Given the description of an element on the screen output the (x, y) to click on. 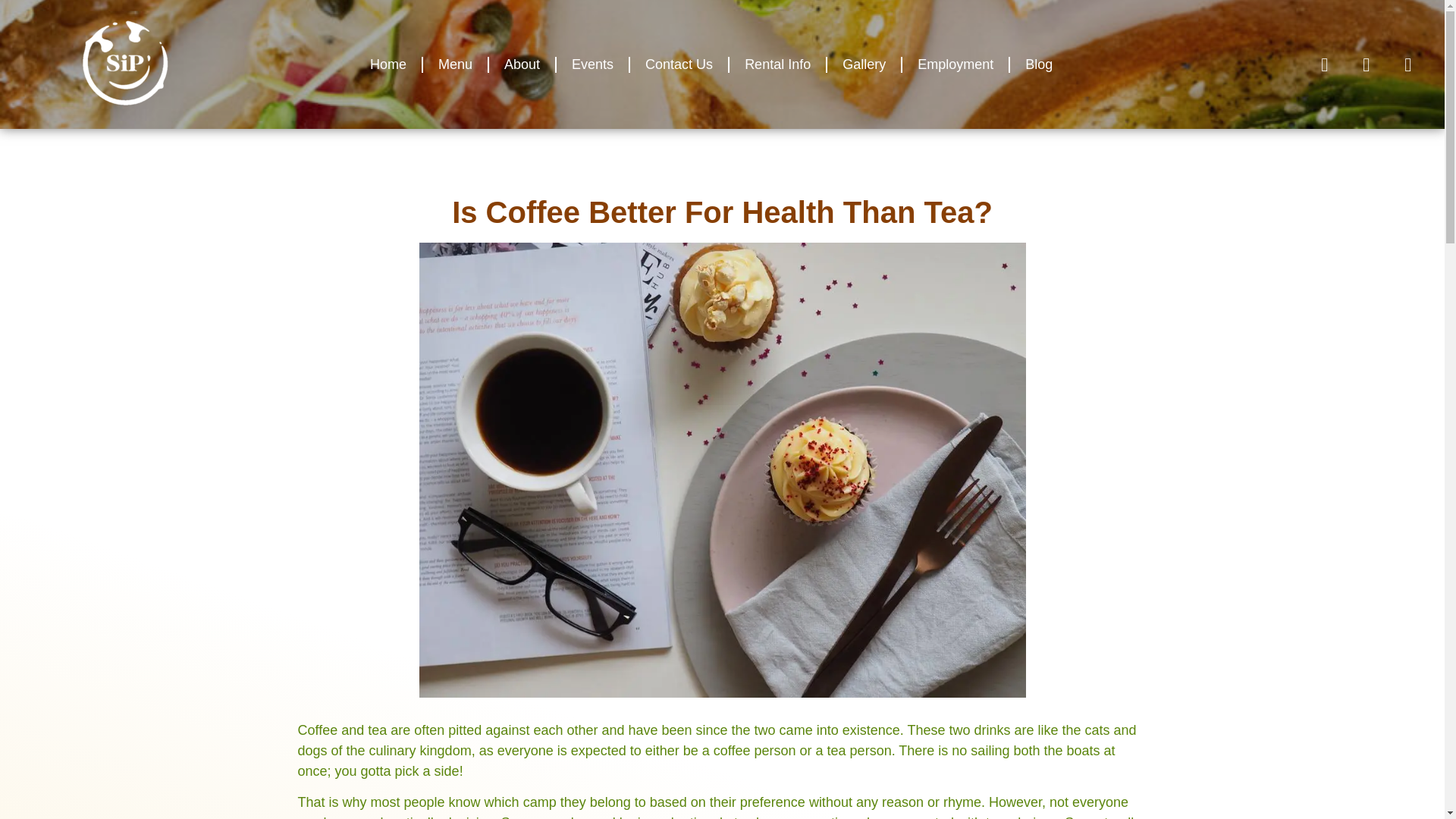
About (521, 63)
Menu (455, 63)
Contact Us (679, 63)
Blog (1038, 63)
Employment (955, 63)
Home (388, 63)
Rental Info (777, 63)
Gallery (864, 63)
Events (592, 63)
